Given the description of an element on the screen output the (x, y) to click on. 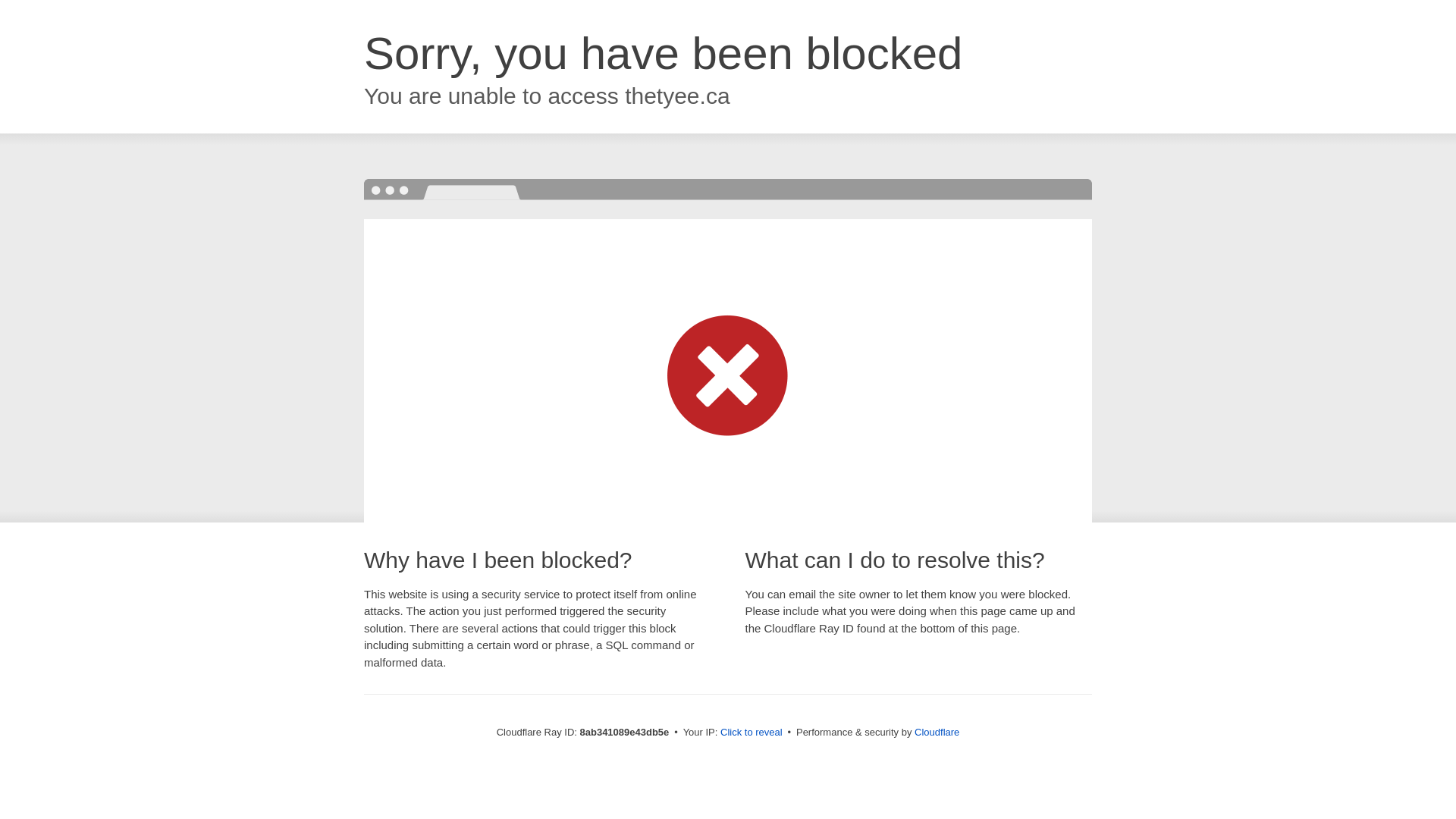
Cloudflare (936, 731)
Click to reveal (751, 732)
